Given the description of an element on the screen output the (x, y) to click on. 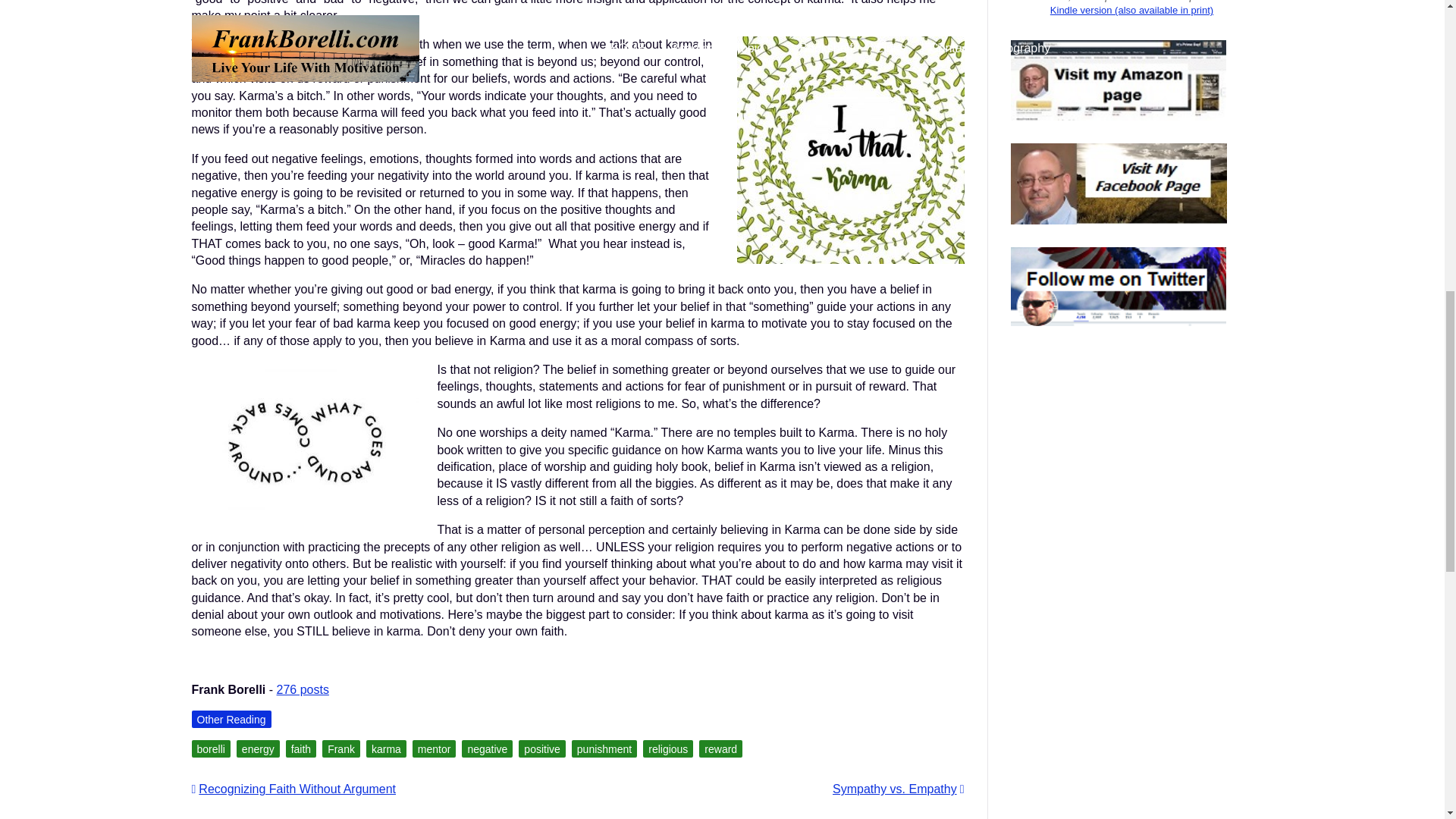
Sympathy vs. Empathy (897, 788)
negative (486, 748)
276 posts (302, 689)
Frank (340, 748)
energy (257, 748)
Other Reading (230, 719)
punishment (604, 748)
karma (386, 748)
positive (541, 748)
faith (300, 748)
borelli (210, 748)
Recognizing Faith Without Argument (293, 788)
religious (668, 748)
reward (720, 748)
mentor (434, 748)
